Given the description of an element on the screen output the (x, y) to click on. 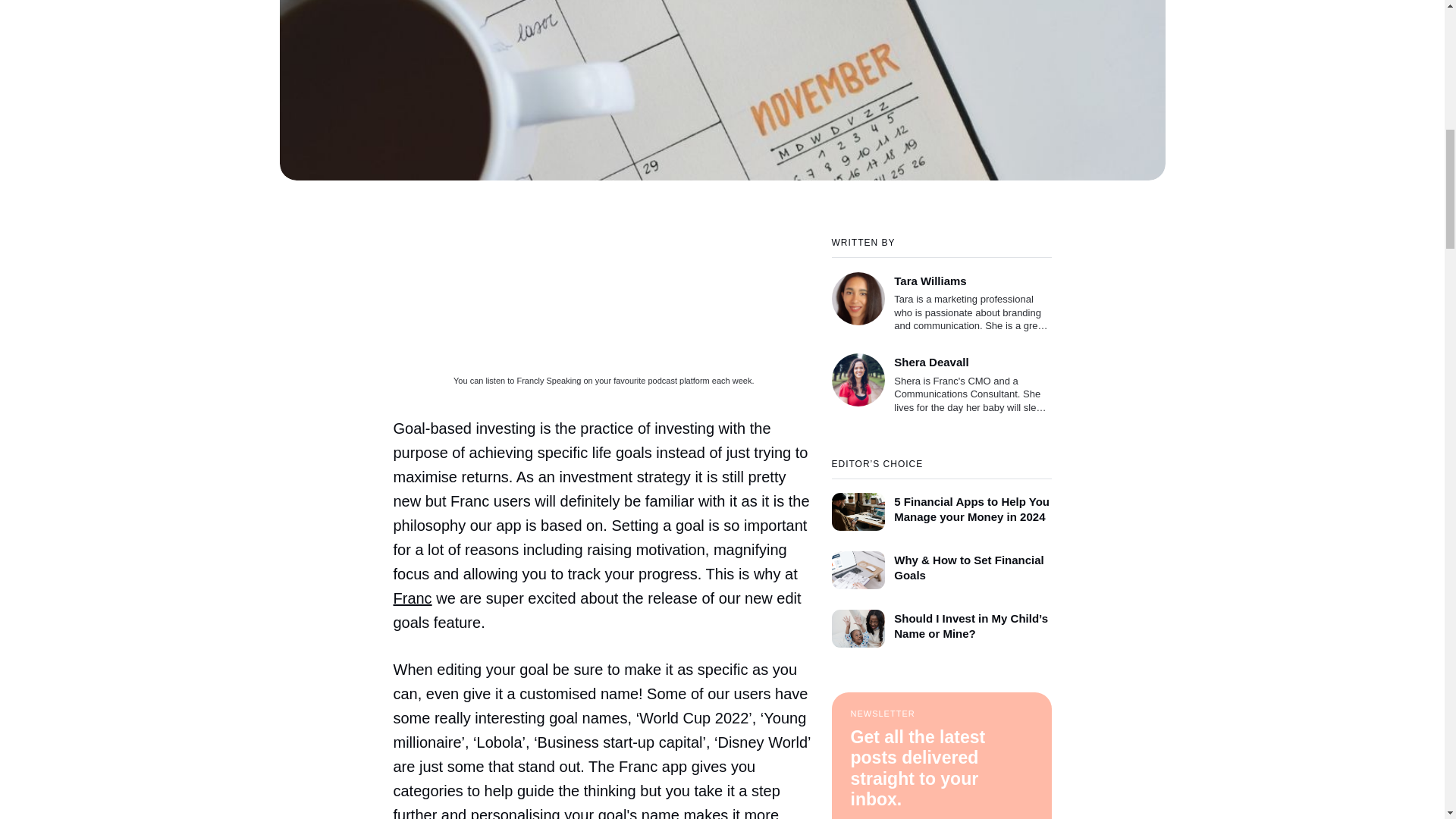
Spotify Embed: Setting and Achieving Your Financial Goals (603, 295)
5 Financial Apps to Help You Manage your Money in 2024 (941, 504)
Franc (411, 597)
